Given the description of an element on the screen output the (x, y) to click on. 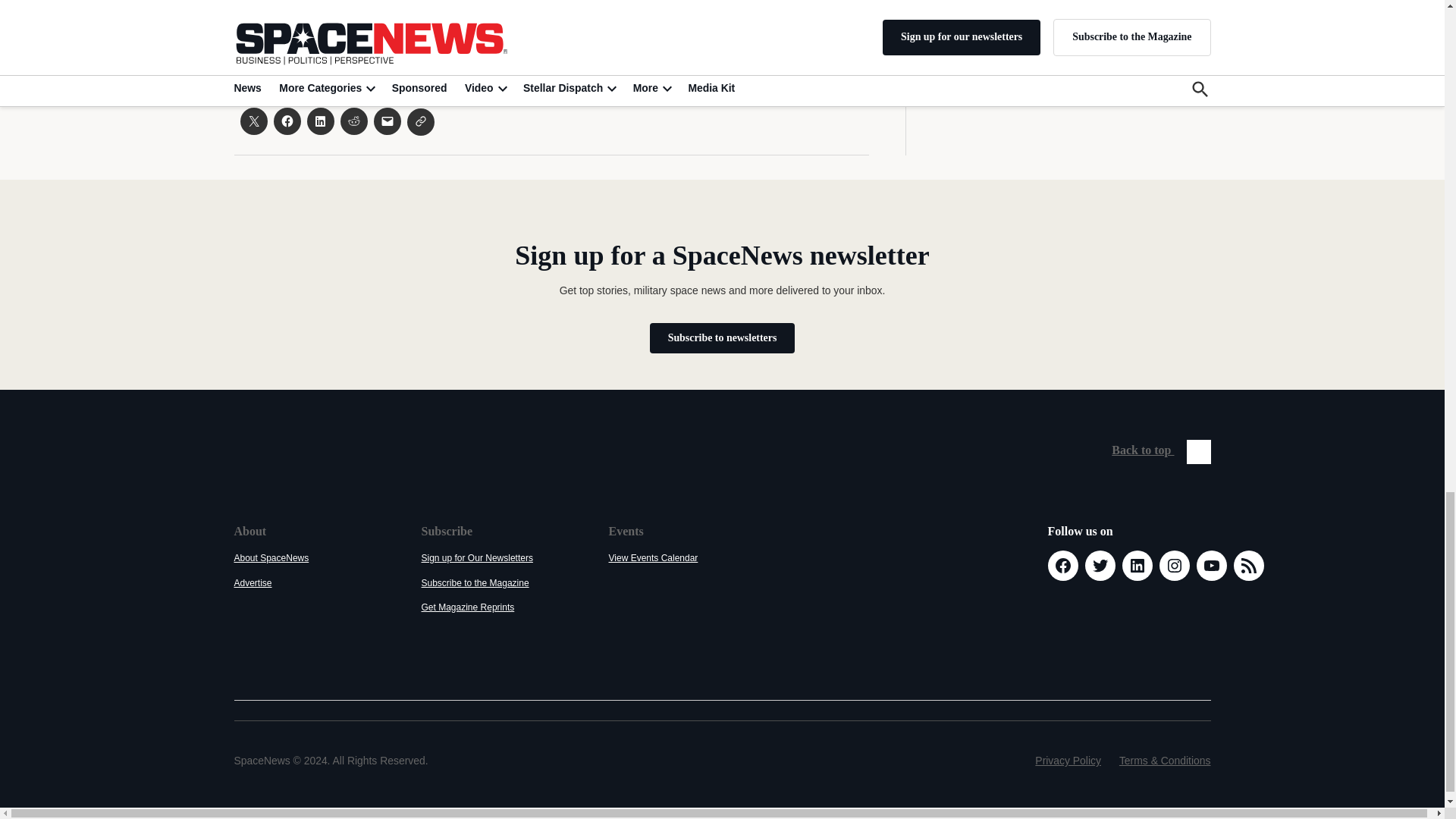
Click to share on Facebook (286, 121)
Click to share on Clipboard (419, 121)
Click to email a link to a friend (386, 121)
Click to share on Reddit (352, 121)
Click to share on X (253, 121)
Click to share on LinkedIn (319, 121)
